Given the description of an element on the screen output the (x, y) to click on. 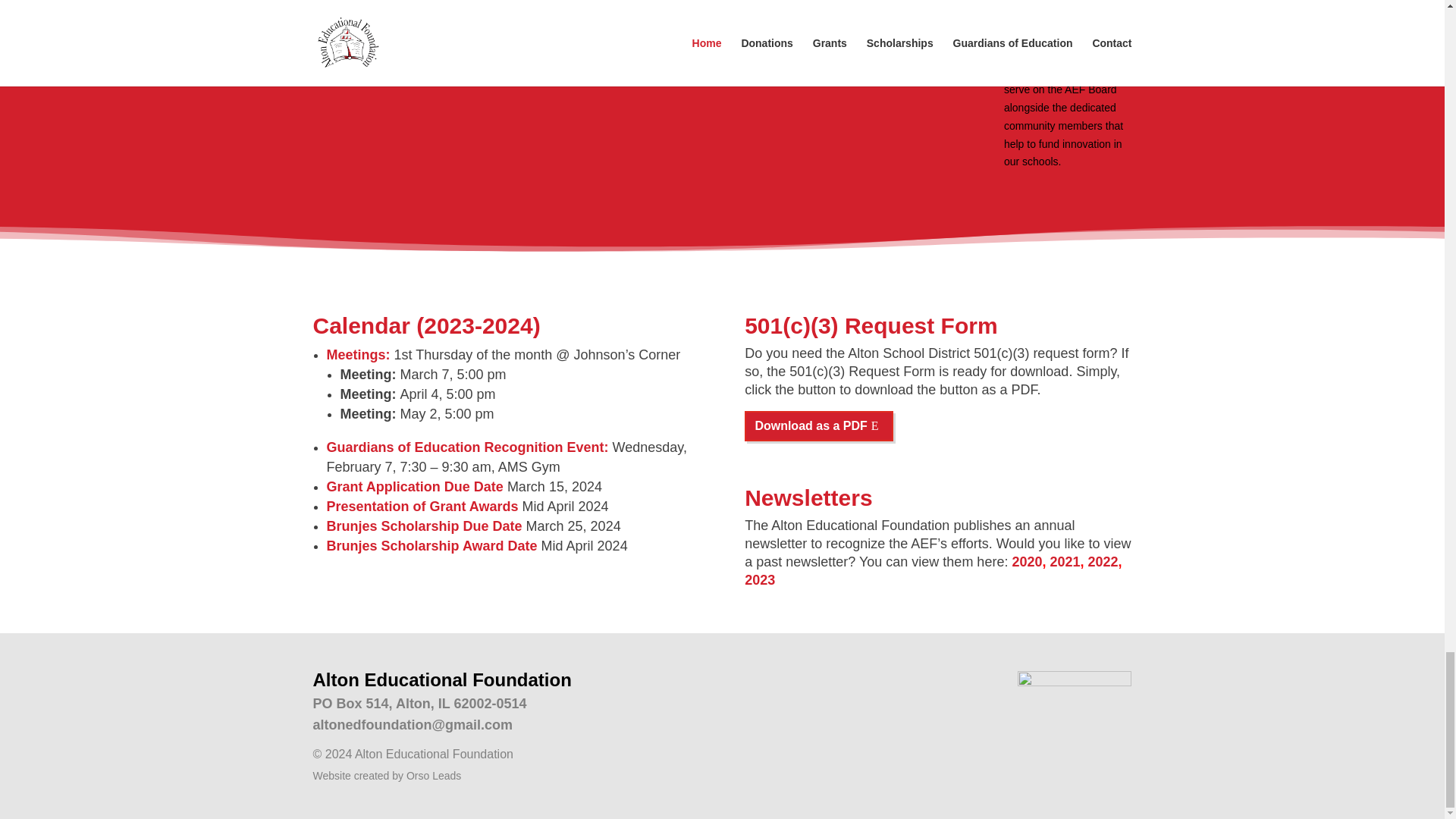
2023 (759, 580)
Download as a PDF (818, 426)
2020 (1026, 561)
2021 (1064, 561)
Orso Leads (433, 775)
2022 (1102, 561)
